Given the description of an element on the screen output the (x, y) to click on. 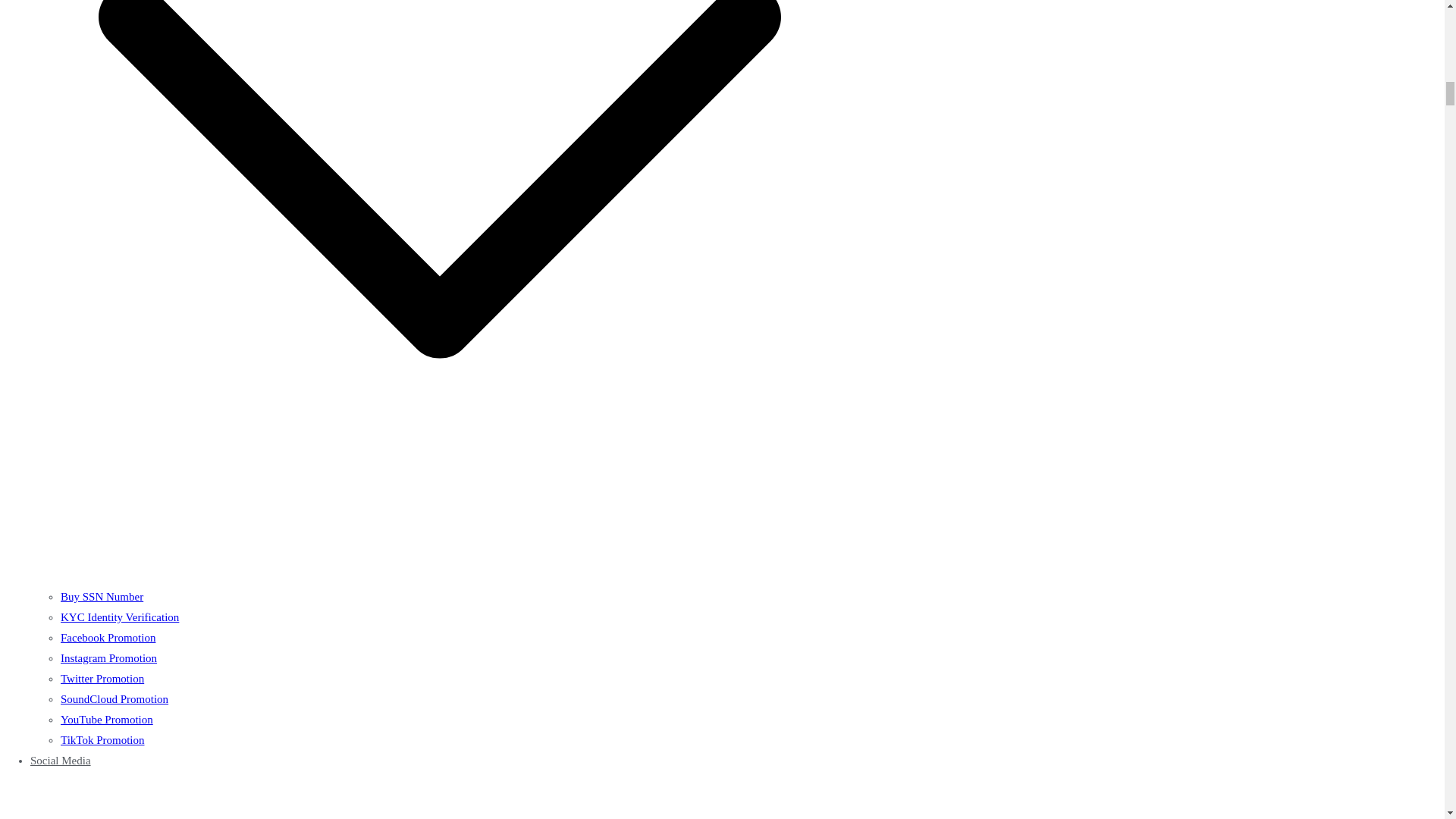
KYC Identity Verification (120, 616)
Twitter Promotion (102, 678)
Buy SSN Number (101, 596)
YouTube Promotion (106, 719)
Facebook Promotion (108, 637)
Instagram Promotion (109, 657)
SoundCloud Promotion (114, 698)
TikTok Promotion (102, 739)
